Given the description of an element on the screen output the (x, y) to click on. 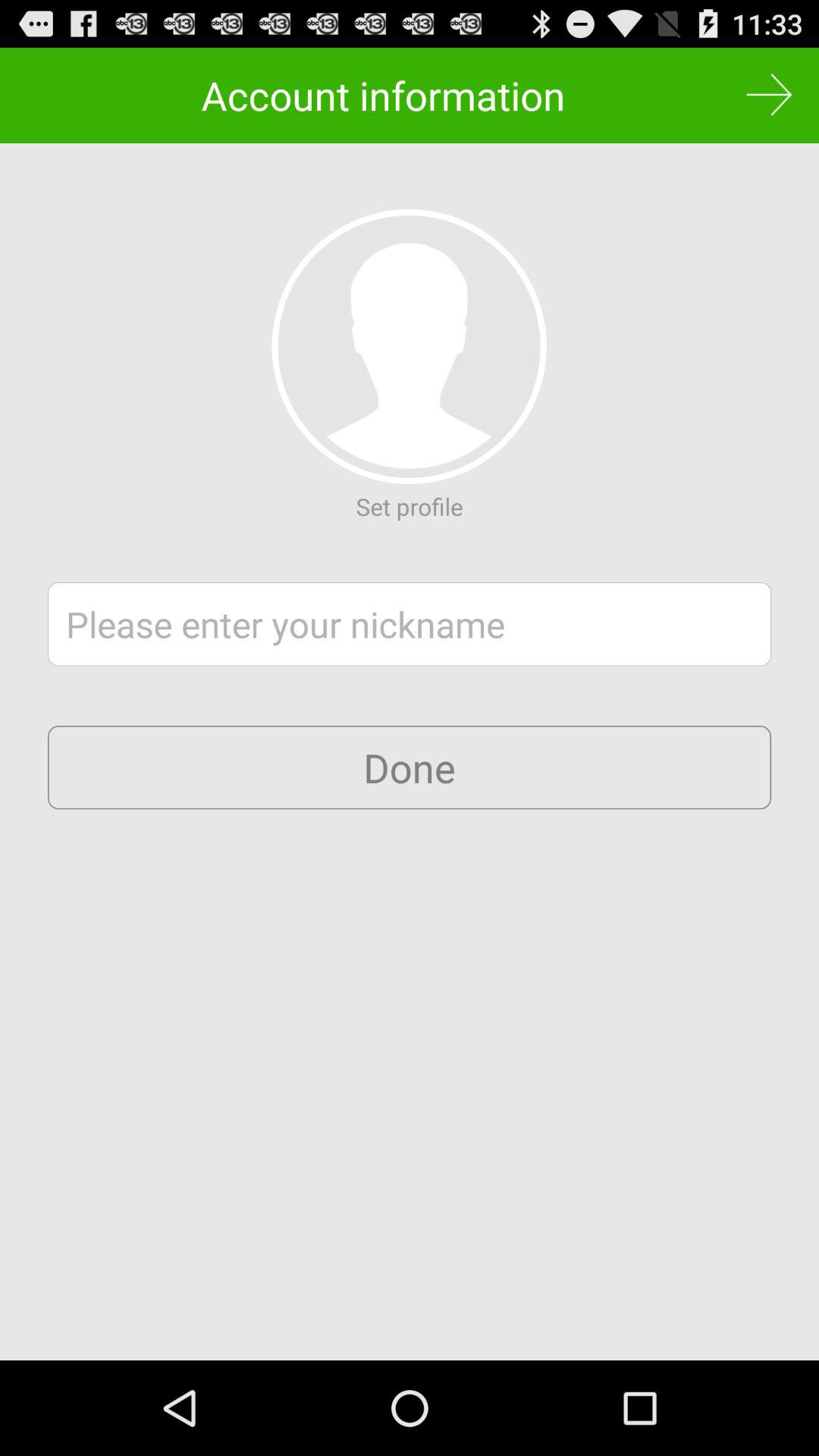
nickname (409, 624)
